Given the description of an element on the screen output the (x, y) to click on. 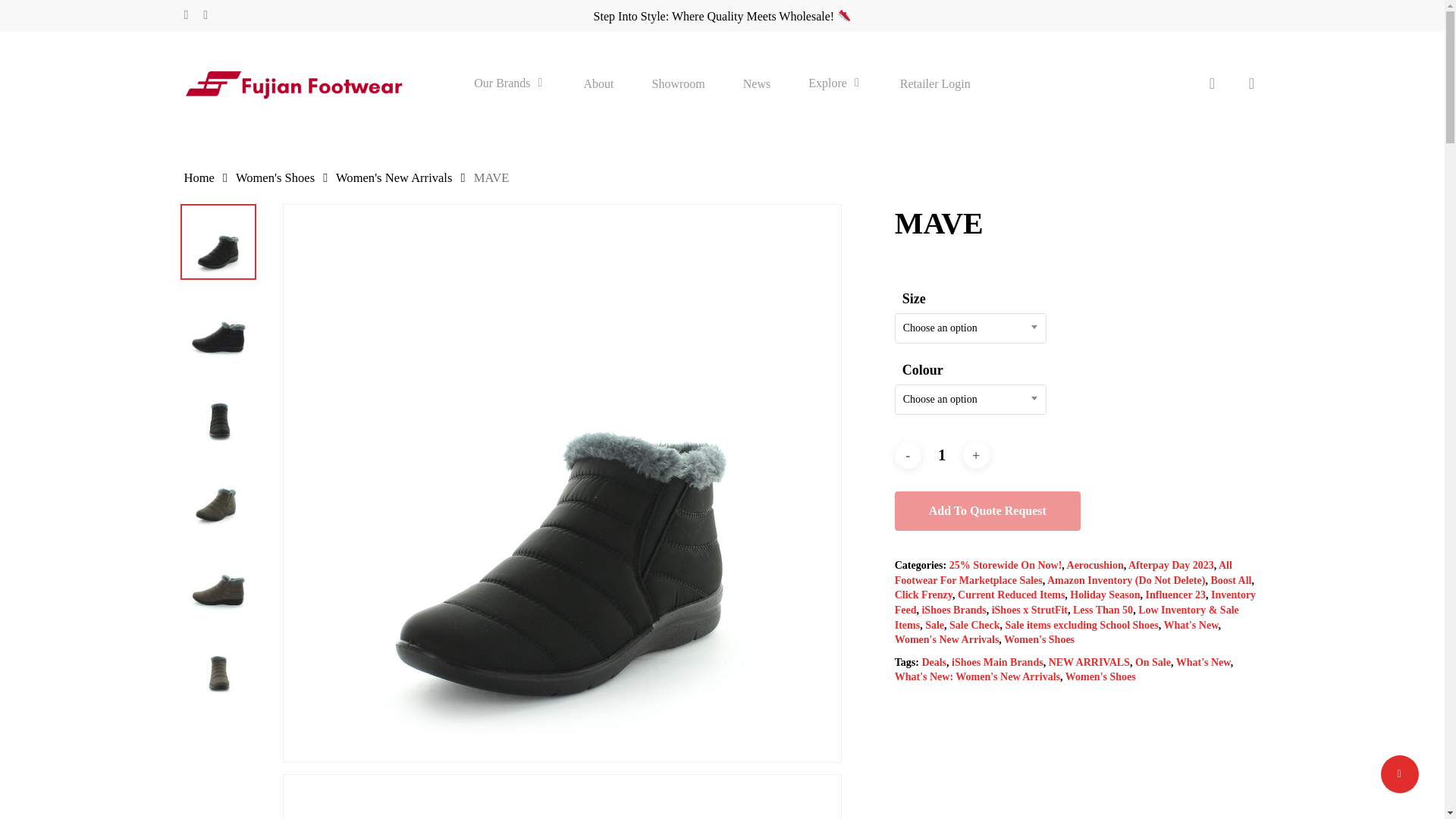
Our Brands (509, 83)
Choose an option (970, 399)
Explore (834, 83)
News (756, 82)
About (598, 82)
Choose an option (970, 328)
1 (941, 455)
- (908, 455)
Showroom (678, 82)
